Given the description of an element on the screen output the (x, y) to click on. 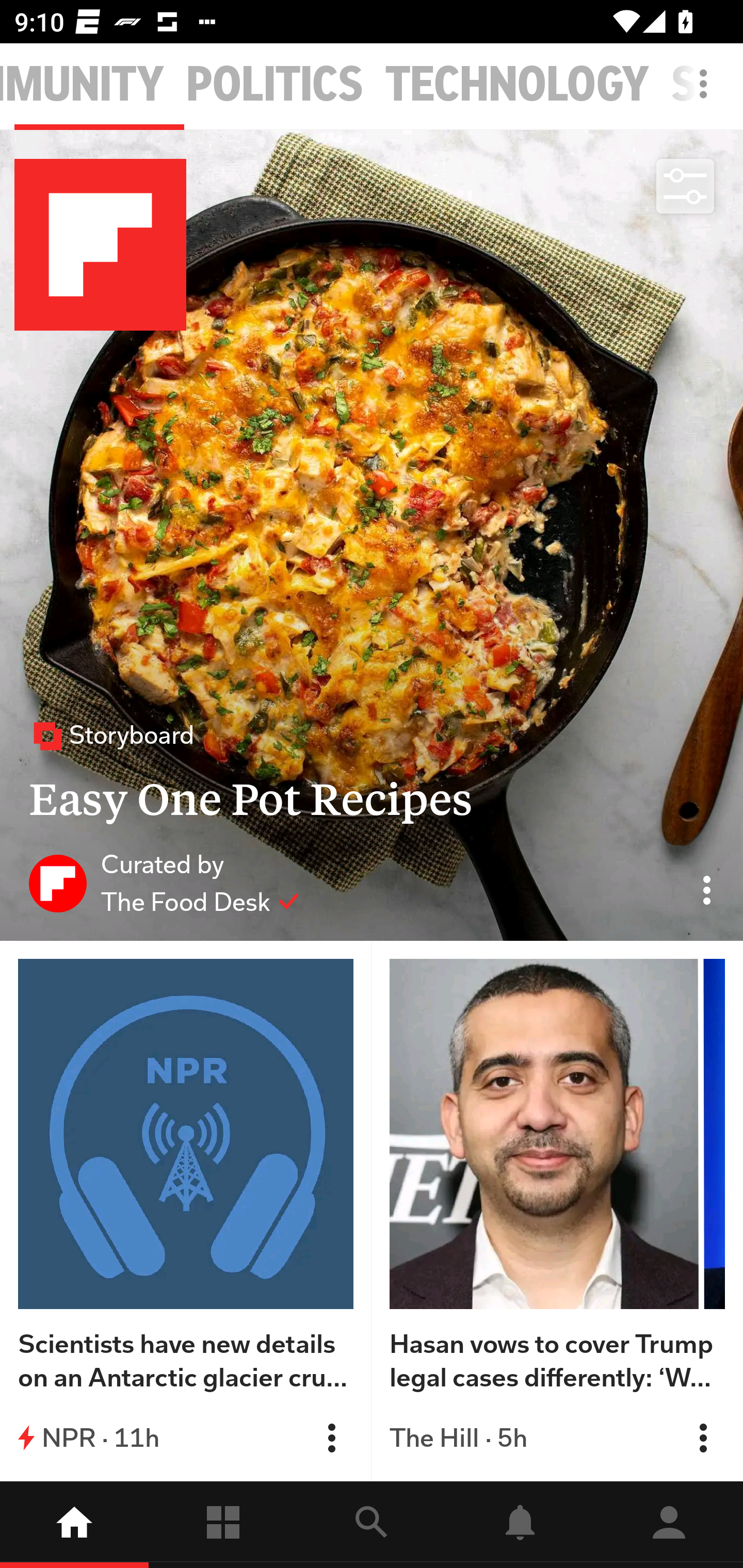
COMMUNITY (82, 84)
POLITICS (275, 84)
TECHNOLOGY (517, 84)
More options (706, 93)
Curated by The Food Desk (163, 882)
NPR · 11h Flip into Magazine (185, 1437)
The Hill · 5h Flip into Magazine (557, 1437)
Flip into Magazine (331, 1437)
Flip into Magazine (703, 1437)
home (74, 1524)
Following (222, 1524)
explore (371, 1524)
Notifications (519, 1524)
Profile (668, 1524)
